Given the description of an element on the screen output the (x, y) to click on. 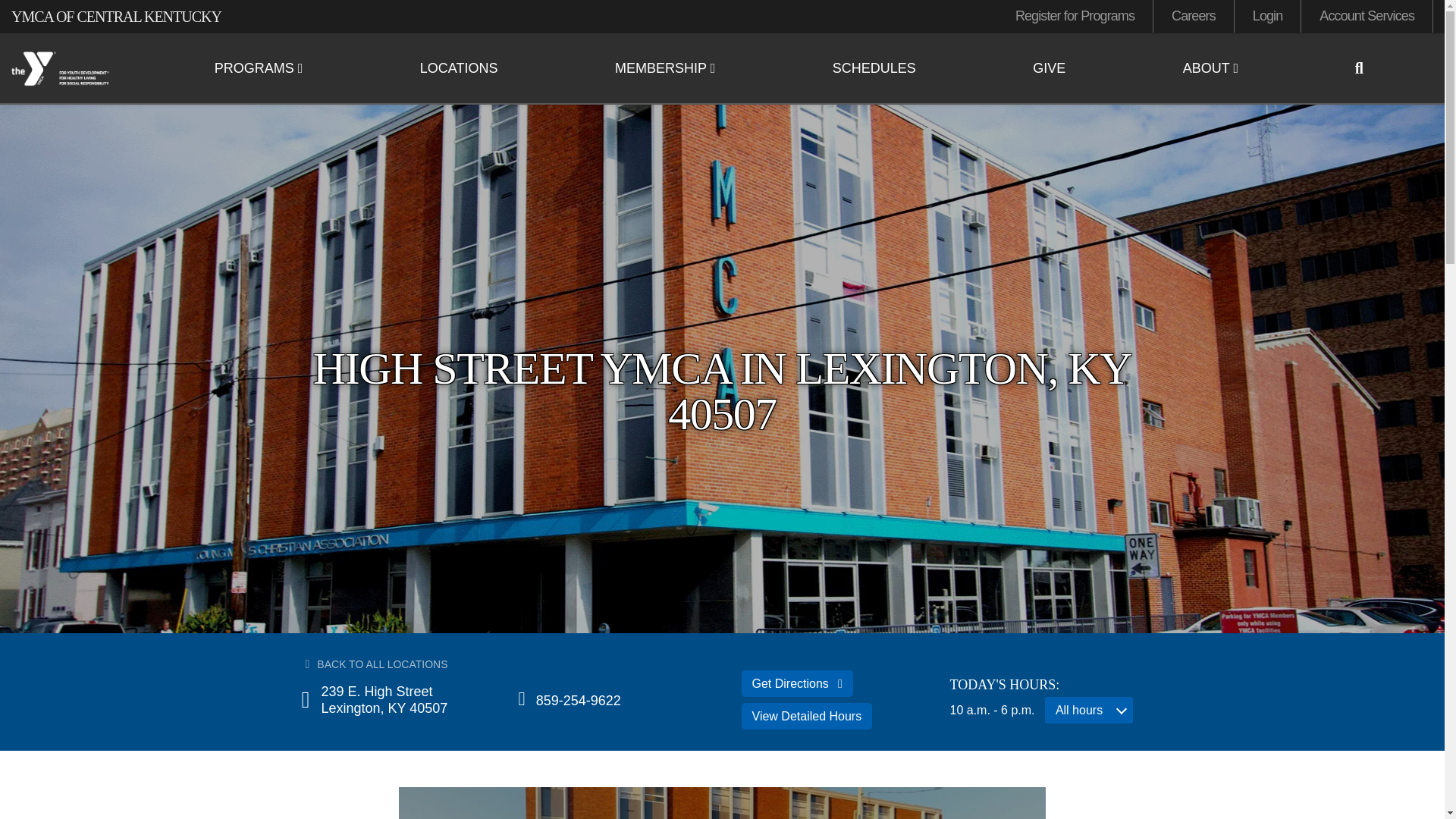
Register for Programs (1075, 16)
YMCA of Central Kentucky (72, 68)
Login (1267, 16)
Careers (1193, 16)
